Given the description of an element on the screen output the (x, y) to click on. 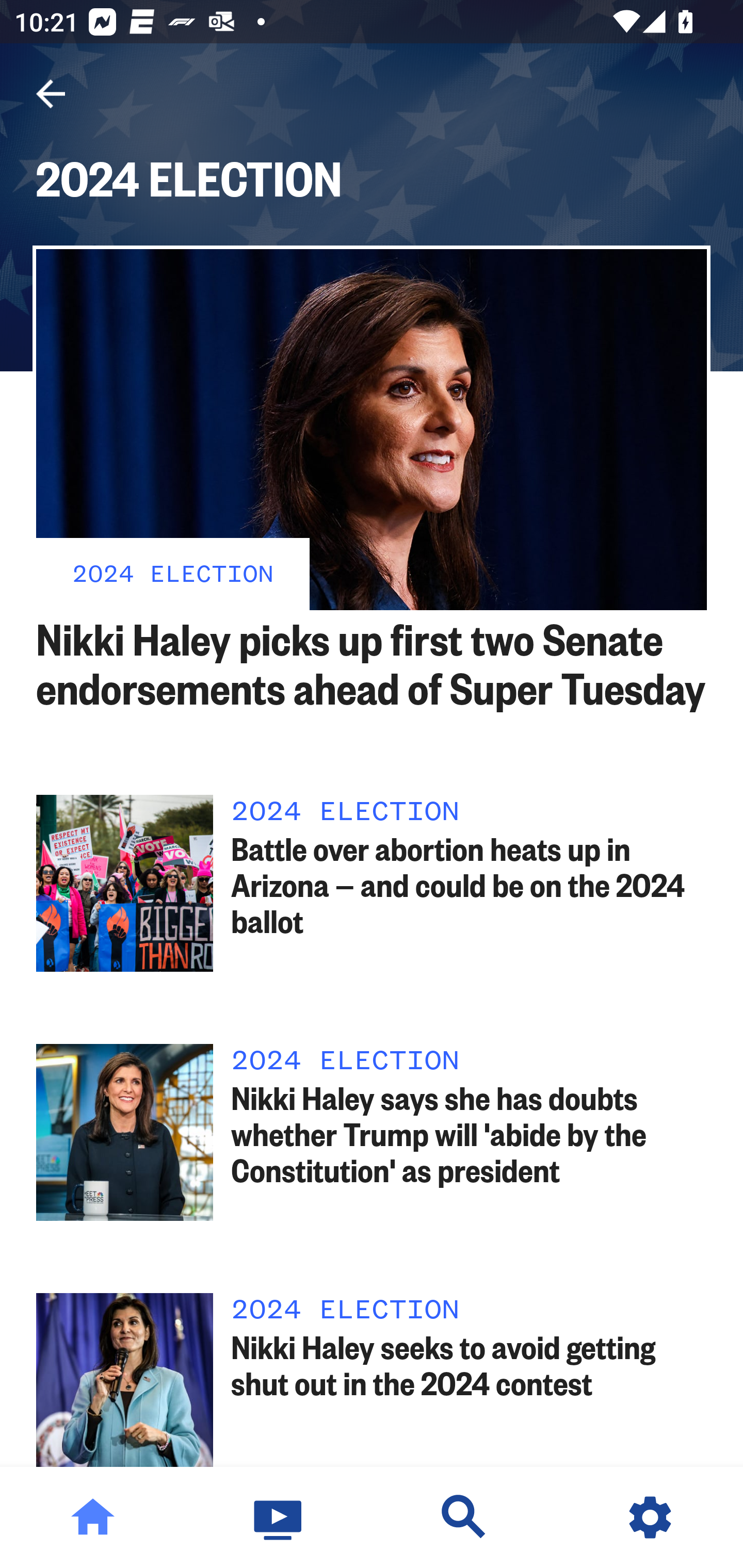
Navigate up (50, 93)
Watch (278, 1517)
Discover (464, 1517)
Settings (650, 1517)
